Given the description of an element on the screen output the (x, y) to click on. 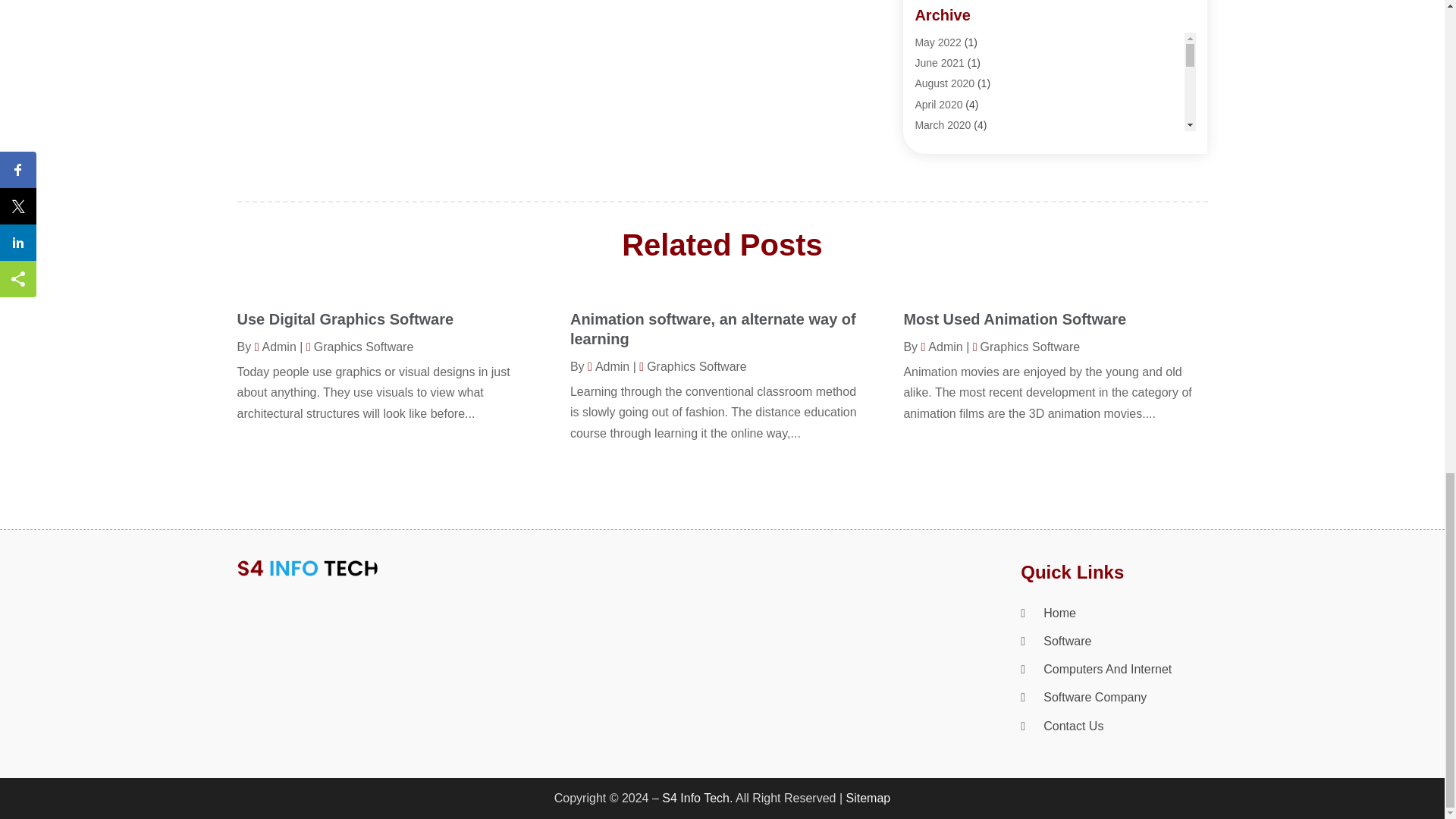
S4 Info Tech - Footer Logo (306, 568)
Supply Chain Management (978, 186)
Posts by admin (275, 346)
Data Recovery Service (968, 3)
Electrician  (940, 21)
Posts by admin (941, 346)
Graphics Software (957, 61)
Mobile Software (952, 123)
Hardware (937, 82)
Software (935, 144)
